Given the description of an element on the screen output the (x, y) to click on. 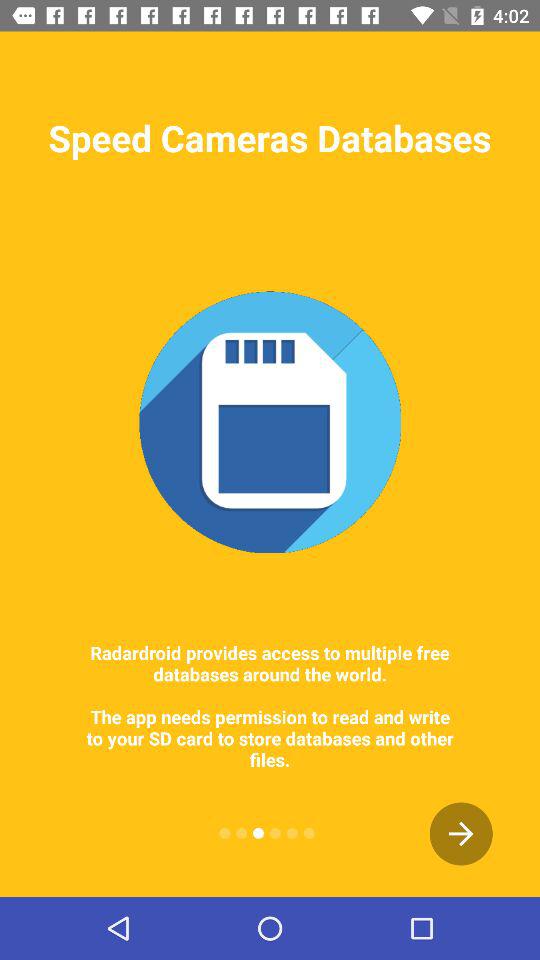
advance page (461, 834)
